Given the description of an element on the screen output the (x, y) to click on. 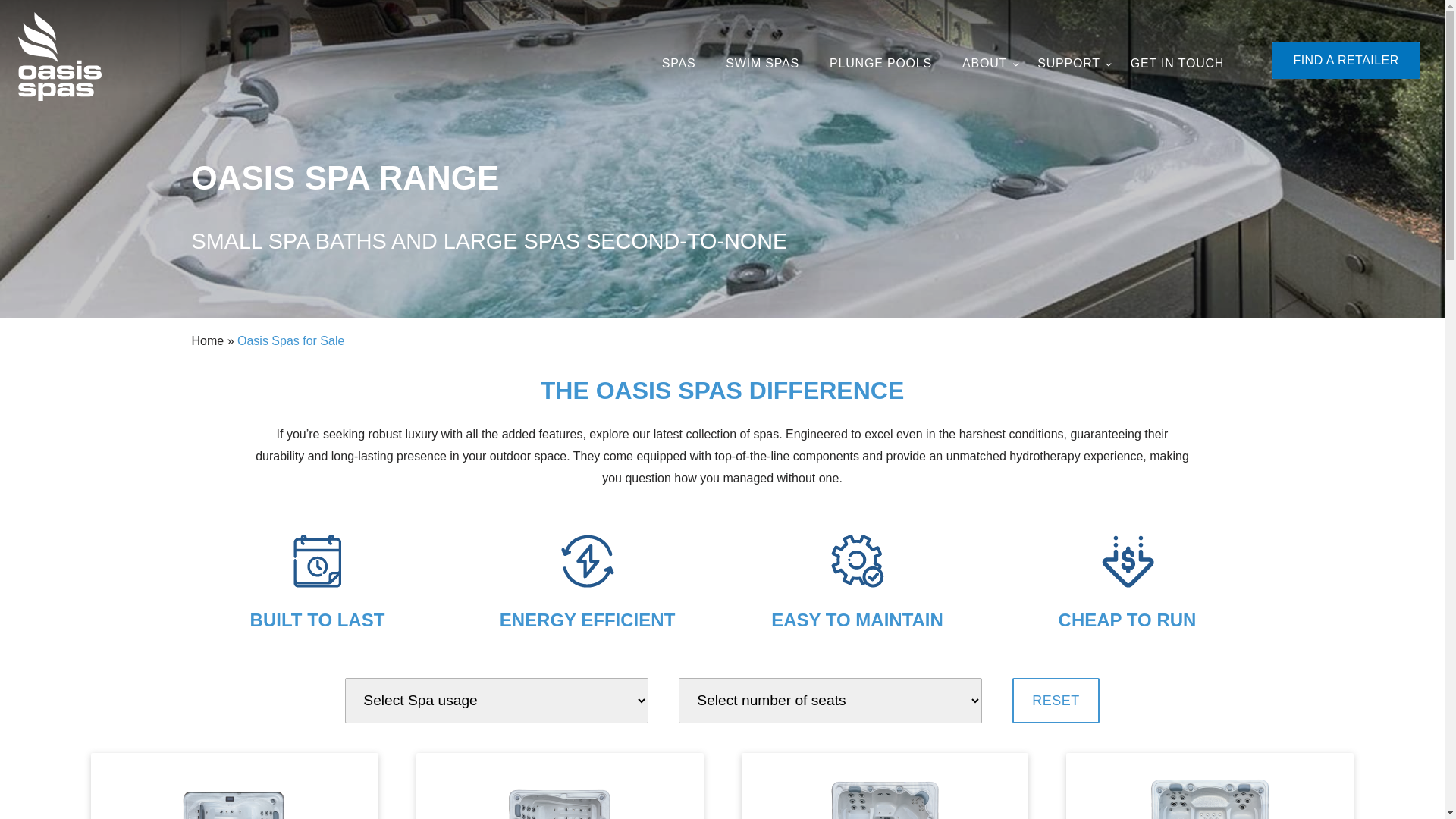
PLUNGE POOLS Element type: text (880, 63)
RESET Element type: text (1055, 700)
SWIM SPAS Element type: text (762, 63)
Home Element type: text (207, 340)
SUPPORT Element type: text (1068, 63)
GET IN TOUCH Element type: text (1177, 63)
FIND A RETAILER Element type: text (1345, 60)
ABOUT Element type: text (984, 63)
SPAS Element type: text (678, 63)
